Given the description of an element on the screen output the (x, y) to click on. 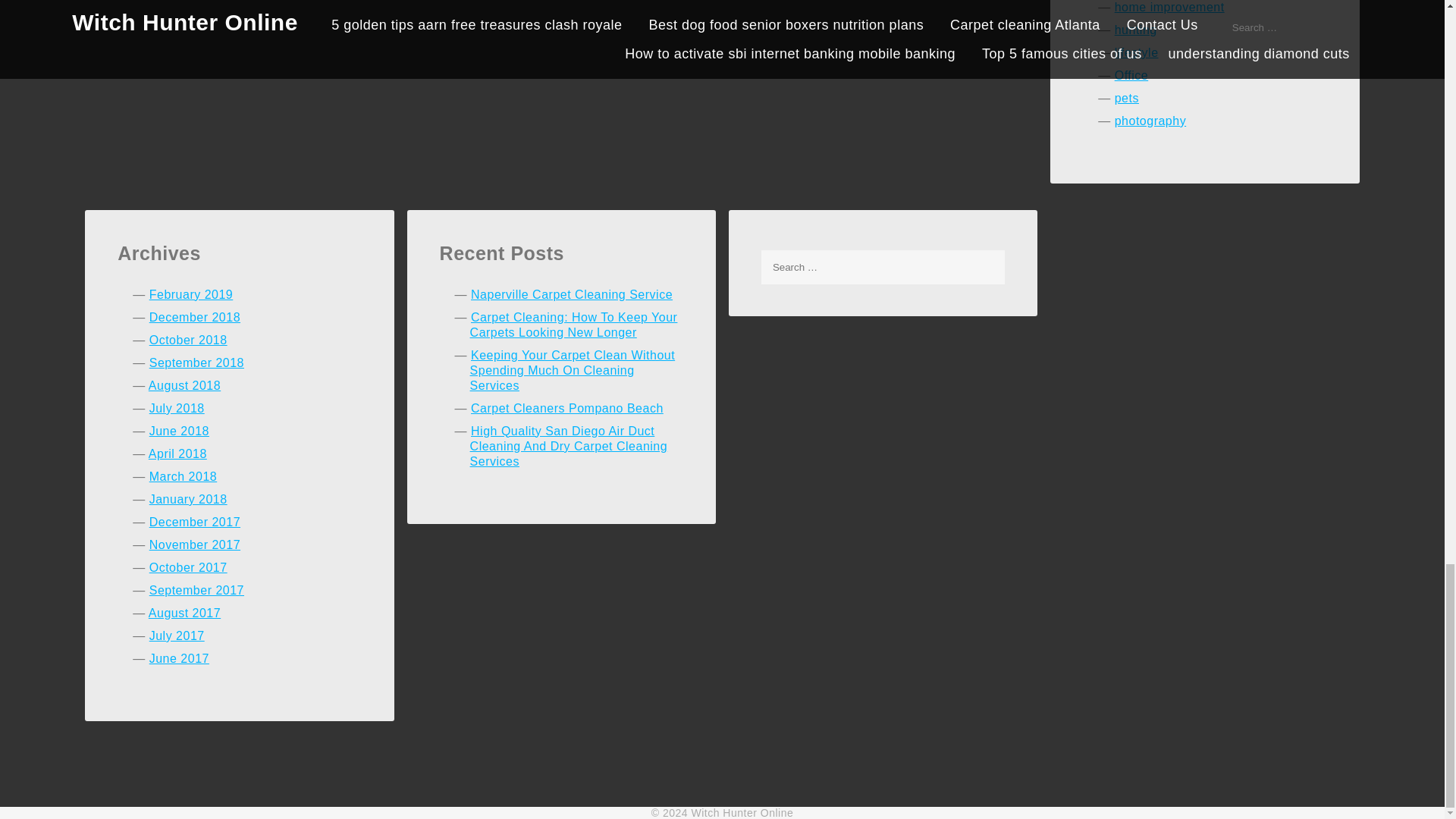
lifestyle (1136, 51)
September 2018 (196, 362)
pets (1126, 97)
photography (1150, 120)
December 2018 (194, 317)
hunting (1136, 29)
home improvement (1169, 6)
February 2019 (190, 294)
Office (1131, 74)
October 2018 (188, 339)
